Given the description of an element on the screen output the (x, y) to click on. 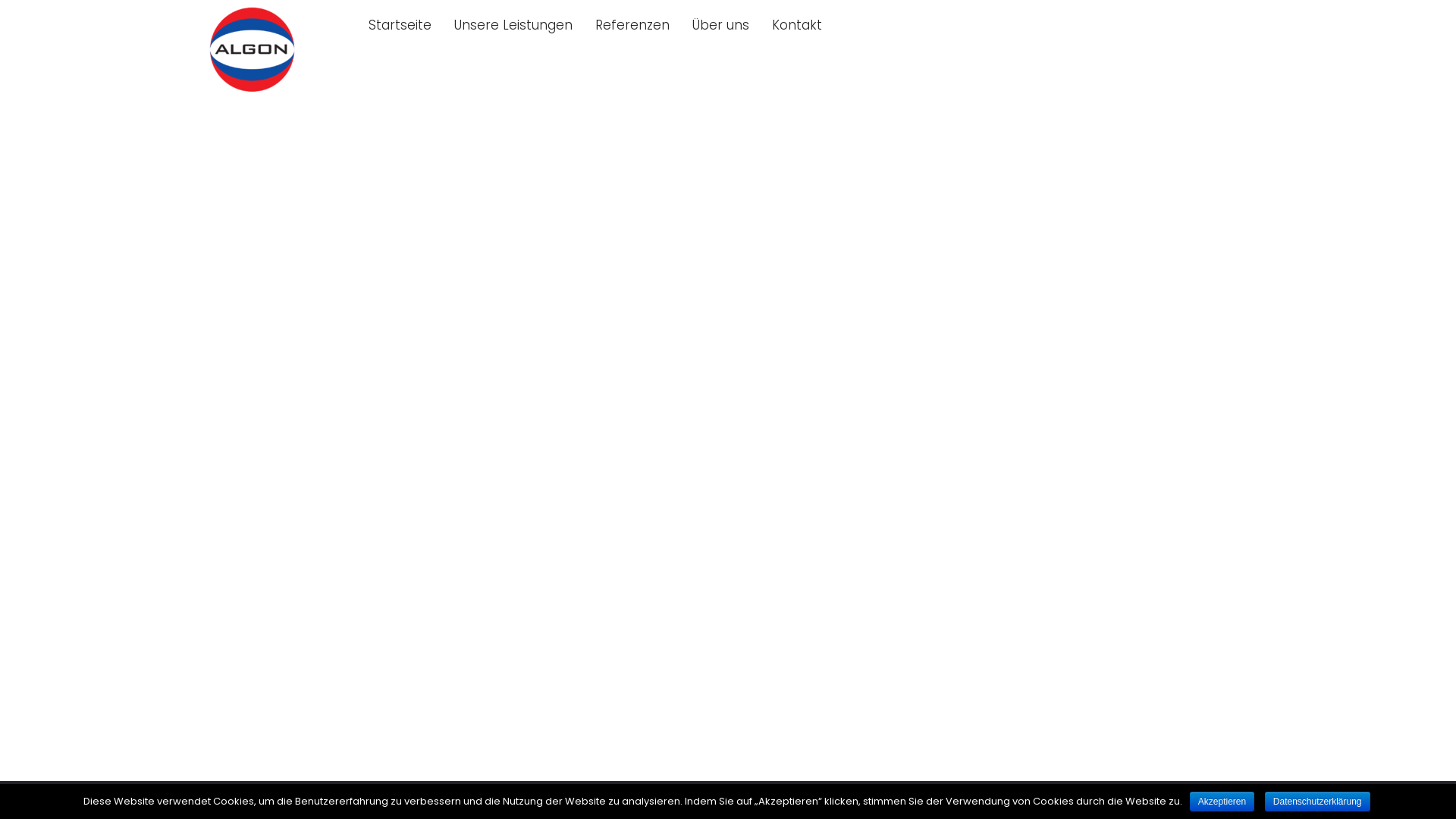
Akzeptieren Element type: text (1221, 801)
Kontakt Element type: text (796, 24)
Referenzen Element type: text (632, 24)
Startseite Element type: text (399, 24)
Unsere Leistungen Element type: text (513, 24)
